Given the description of an element on the screen output the (x, y) to click on. 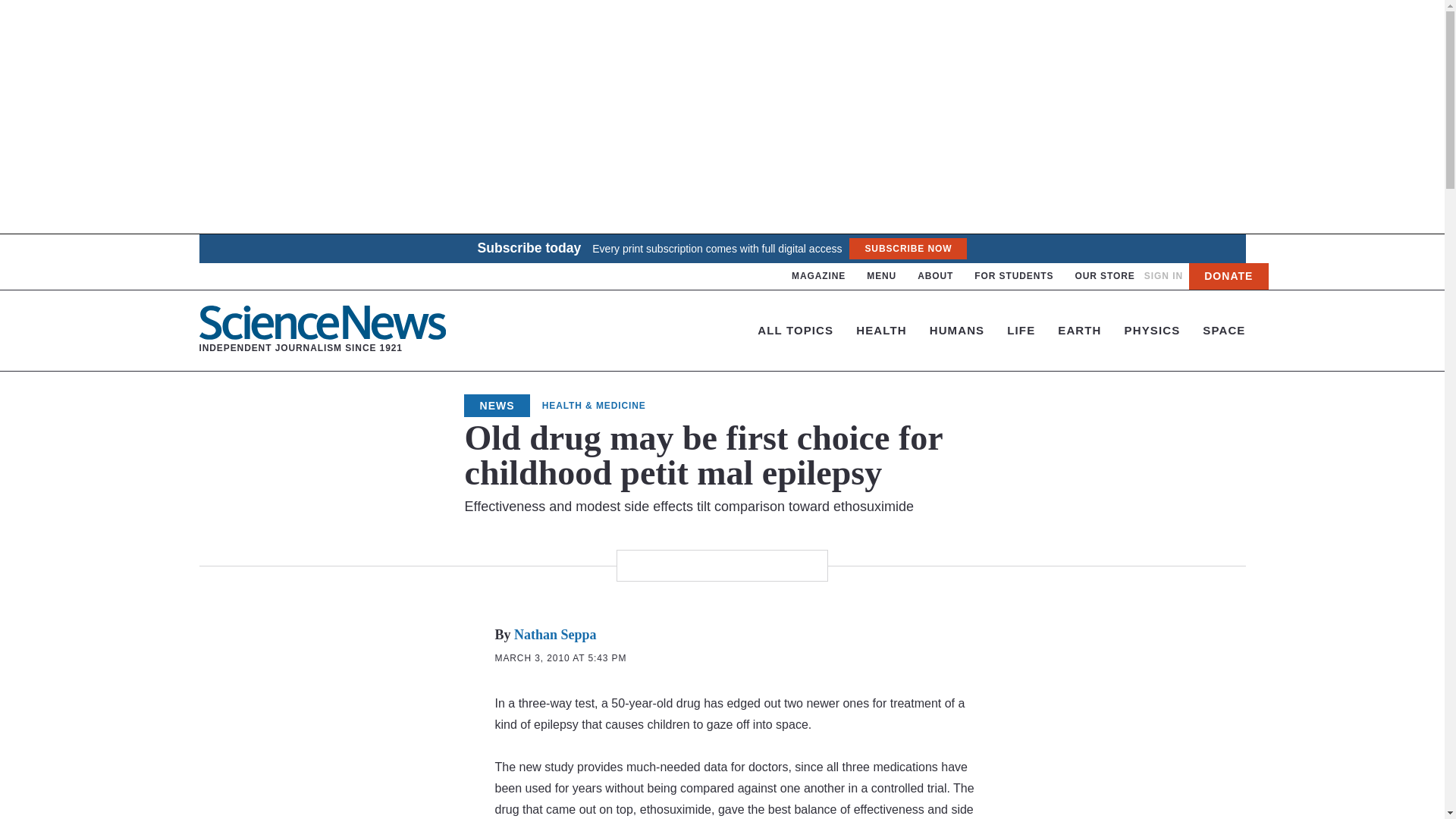
SUBSCRIBE NOW (907, 248)
ABOUT (935, 275)
OUR STORE (1104, 275)
SIGN IN (1163, 275)
Share via email (644, 565)
MAGAZINE (818, 275)
ALL TOPICS (321, 330)
MENU (794, 329)
FOR STUDENTS (881, 275)
